Given the description of an element on the screen output the (x, y) to click on. 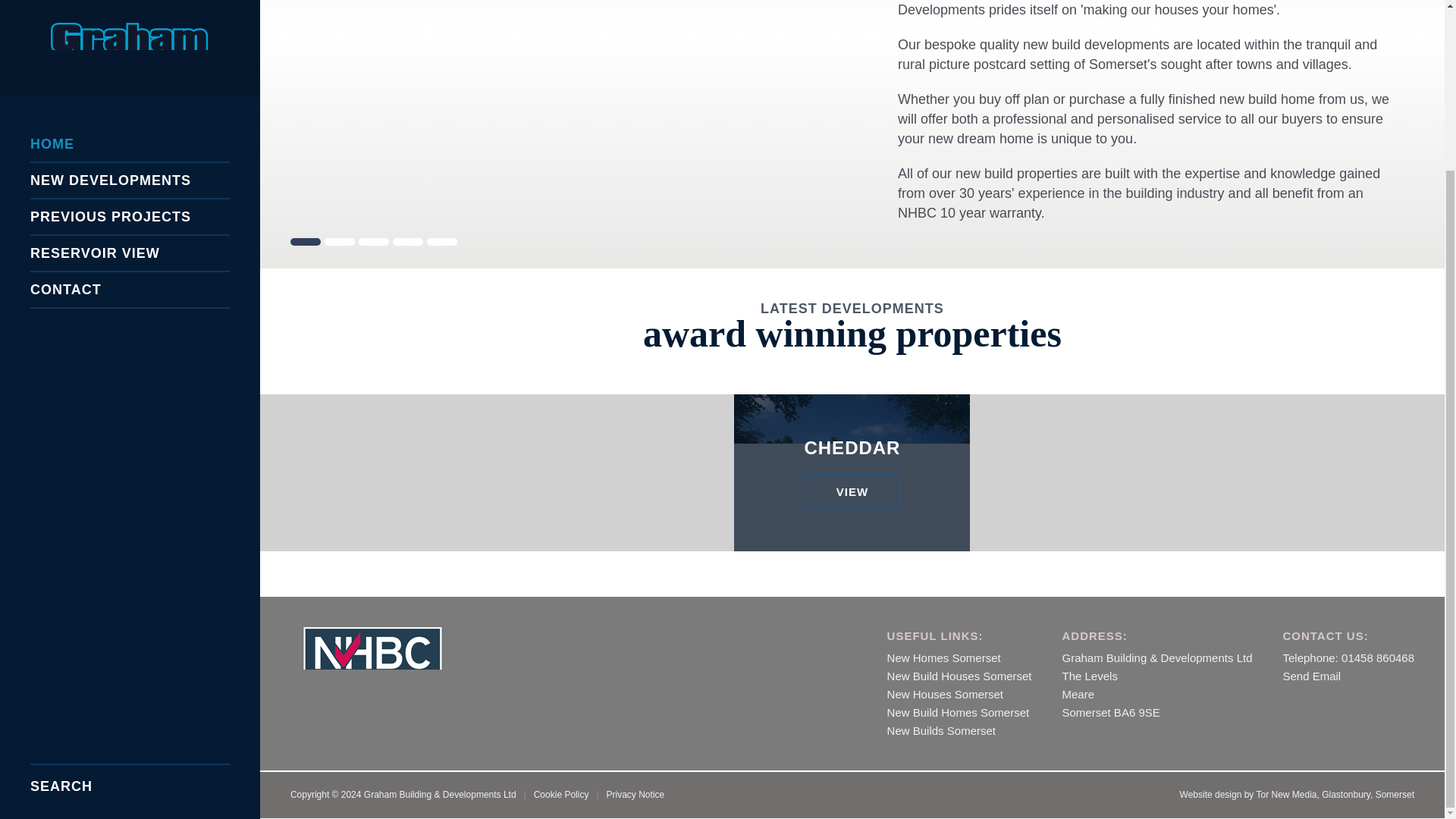
FOLLOW US ON INSTAGRAM (129, 309)
New Homes Somerset (943, 657)
CONTACT (130, 84)
Cookie Policy (561, 794)
Submit (224, 577)
Submit (851, 472)
PREVIOUS PROJECTS (224, 577)
New Build Houses Somerset (130, 14)
Follow us on Instagram (959, 675)
New Build Homes Somerset (1312, 700)
Find us on Facebook (957, 712)
New Builds Somerset (1289, 700)
FIND US ON FACEBOOK (940, 730)
01458 860468 (129, 223)
